Given the description of an element on the screen output the (x, y) to click on. 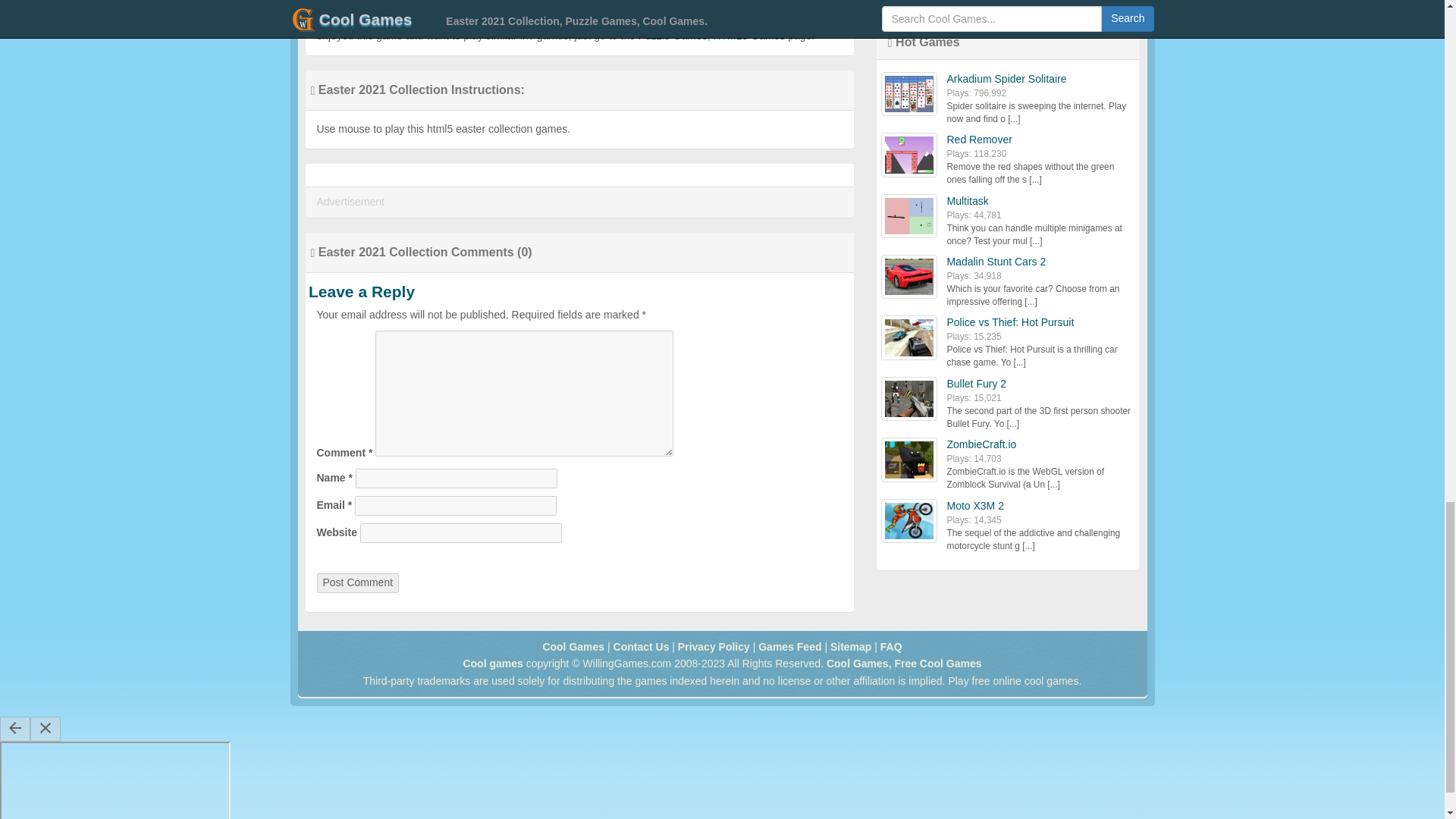
Arkadium Spider Solitaire (1005, 78)
Post Comment (357, 582)
Bullet Fury 2 (976, 383)
Multitask (967, 200)
ZombieCraft.io (981, 444)
Police vs Thief: Hot Pursuit (1010, 322)
Red Remover (978, 139)
Moto X3M 2 (974, 505)
Madalin Stunt Cars 2 (995, 261)
